Given the description of an element on the screen output the (x, y) to click on. 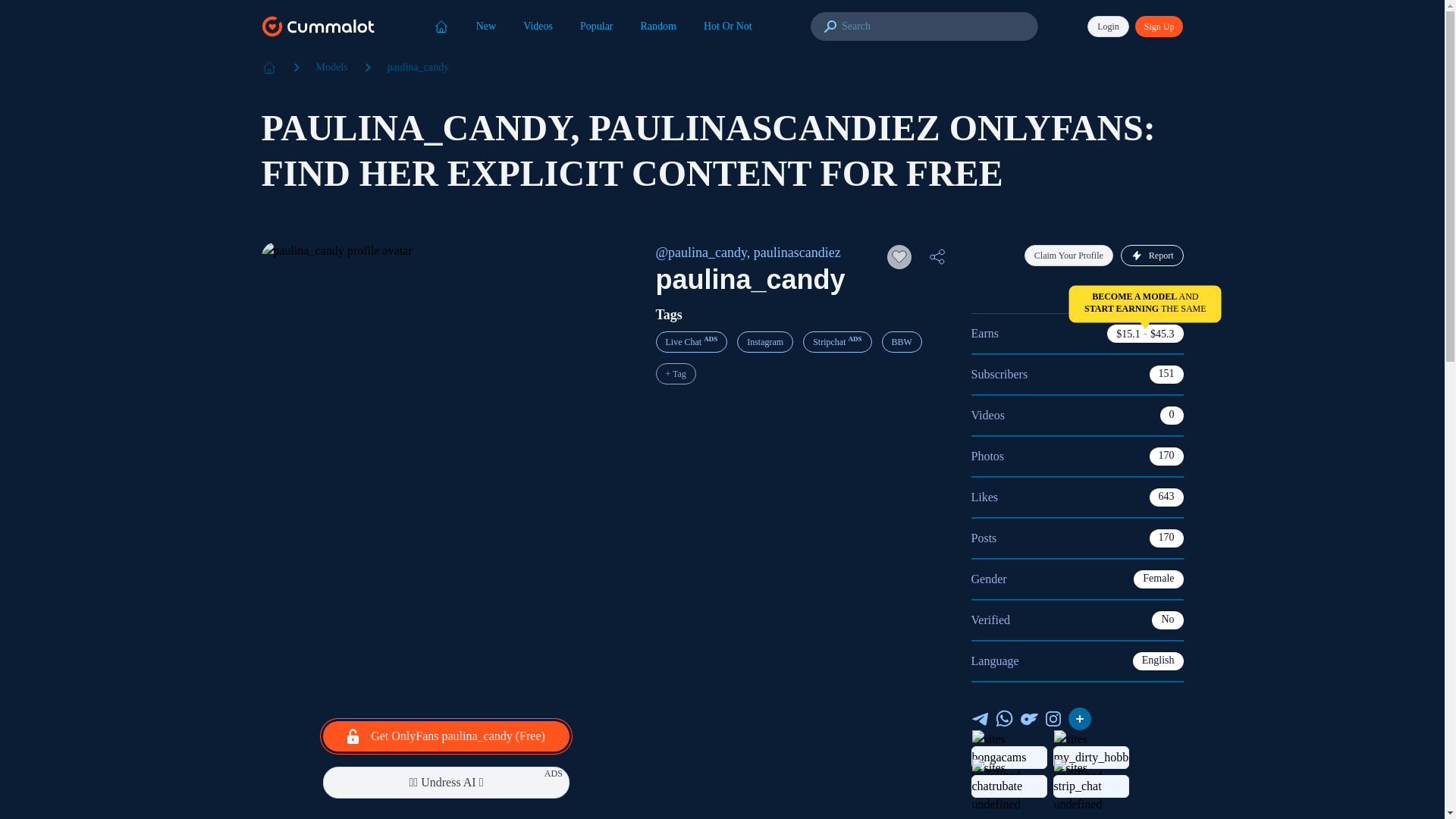
Models (331, 67)
Videos (537, 26)
Login (1108, 25)
Popular (596, 26)
Sign Up (1159, 25)
BBW (900, 341)
sites chatrubate undefined (1009, 786)
Random (658, 26)
Instagram (764, 341)
Hot Or Not (727, 26)
sites bongacams undefined (1009, 757)
Claim Your Profile (1069, 255)
New (486, 26)
